Given the description of an element on the screen output the (x, y) to click on. 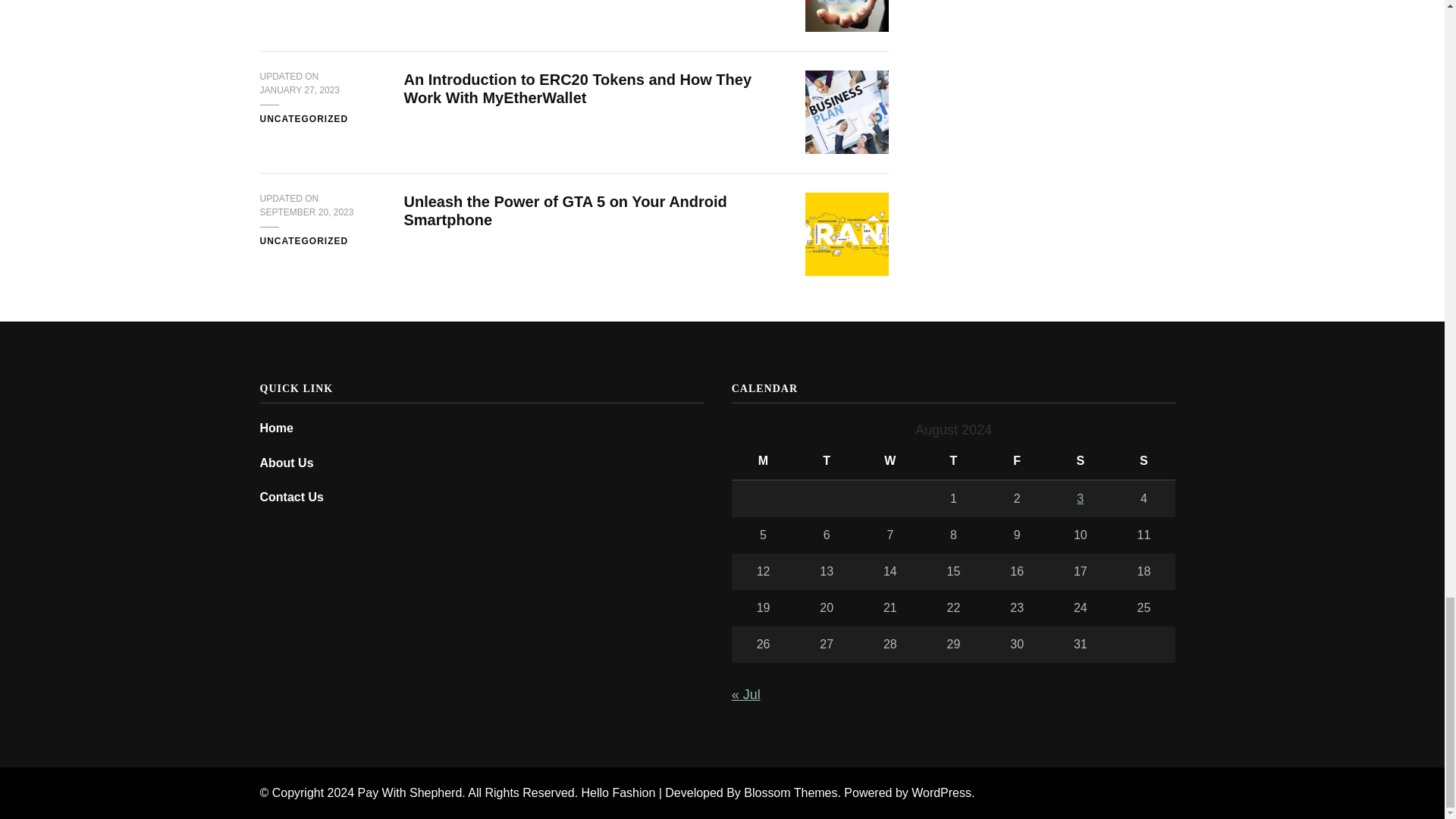
Friday (1016, 461)
Thursday (953, 461)
JANUARY 27, 2023 (299, 90)
UNCATEGORIZED (303, 119)
Monday (763, 461)
Sunday (1144, 461)
Tuesday (826, 461)
UNCATEGORIZED (303, 241)
Wednesday (890, 461)
Saturday (1080, 461)
